Given the description of an element on the screen output the (x, y) to click on. 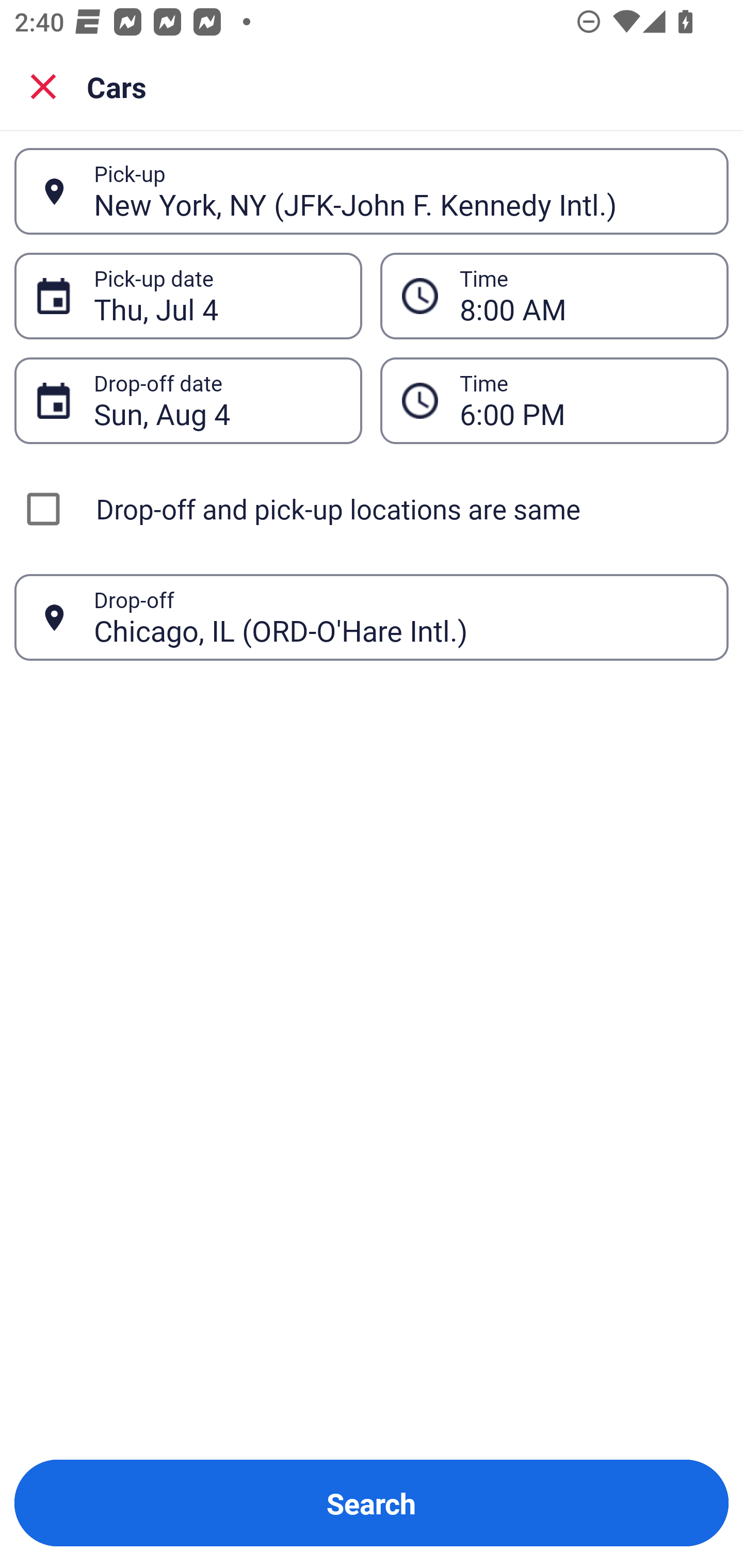
Close search screen (43, 86)
New York, NY (JFK-John F. Kennedy Intl.) Pick-up (371, 191)
New York, NY (JFK-John F. Kennedy Intl.) (399, 191)
Thu, Jul 4 Pick-up date (188, 295)
8:00 AM (554, 295)
Thu, Jul 4 (216, 296)
8:00 AM (582, 296)
Sun, Aug 4 Drop-off date (188, 400)
6:00 PM (554, 400)
Sun, Aug 4 (216, 400)
6:00 PM (582, 400)
Drop-off and pick-up locations are same (371, 508)
Chicago, IL (ORD-O'Hare Intl.) Drop-off (371, 616)
Chicago, IL (ORD-O'Hare Intl.) (399, 616)
Search Button Search (371, 1502)
